Given the description of an element on the screen output the (x, y) to click on. 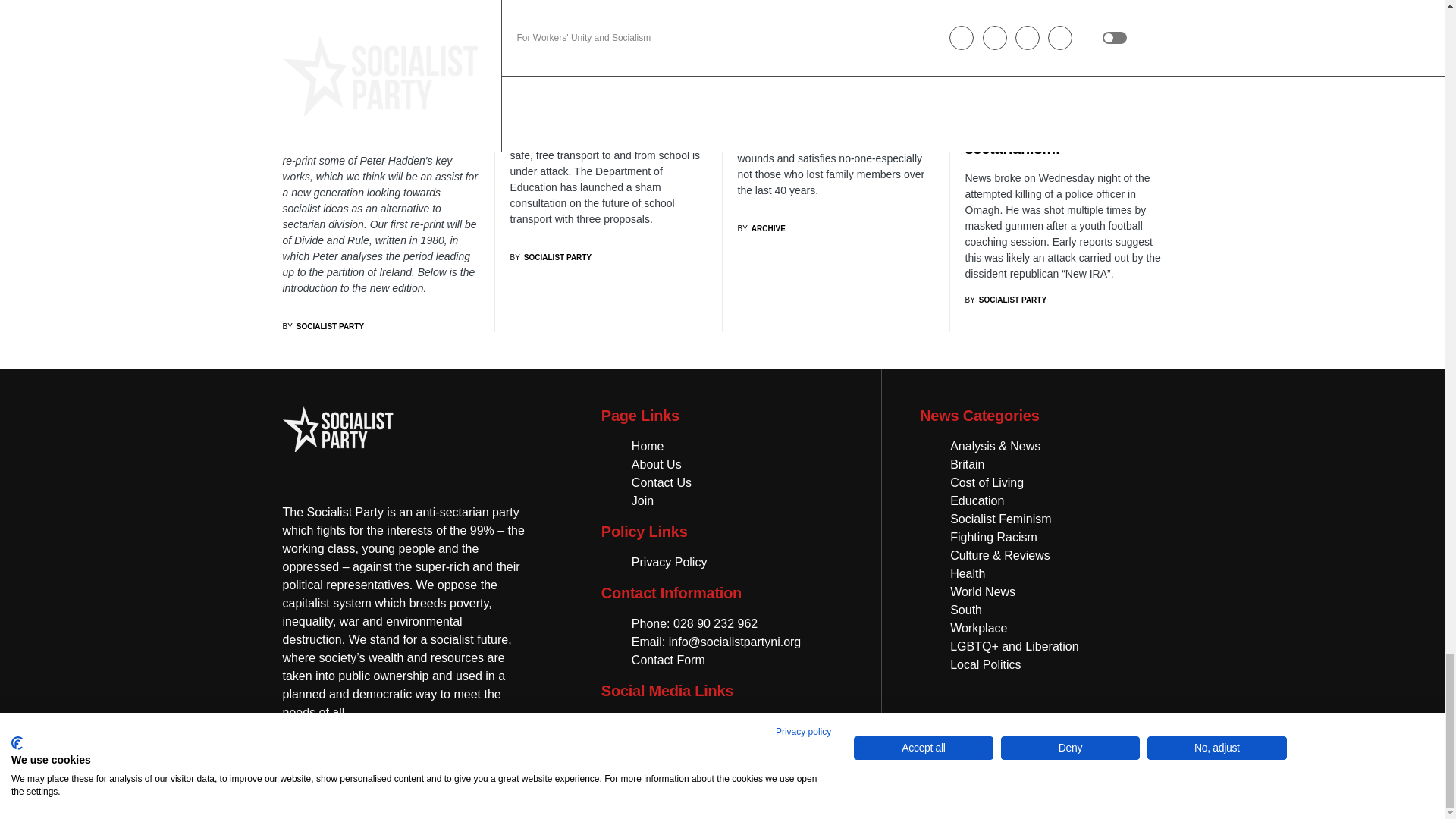
View all posts by Archive (760, 228)
View all posts by Socialist Party (323, 326)
View all posts by Socialist Party (550, 256)
View all posts by Socialist Party (1004, 299)
